Given the description of an element on the screen output the (x, y) to click on. 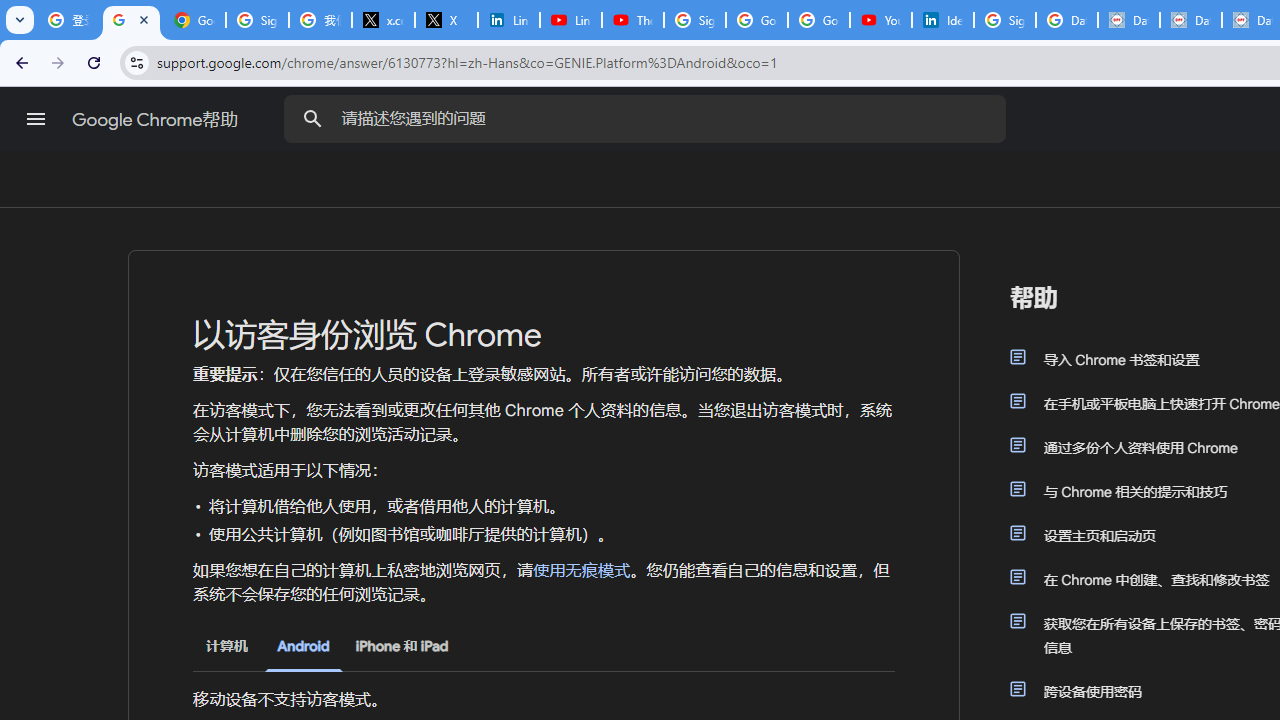
Data Privacy Framework (1190, 20)
